Given the description of an element on the screen output the (x, y) to click on. 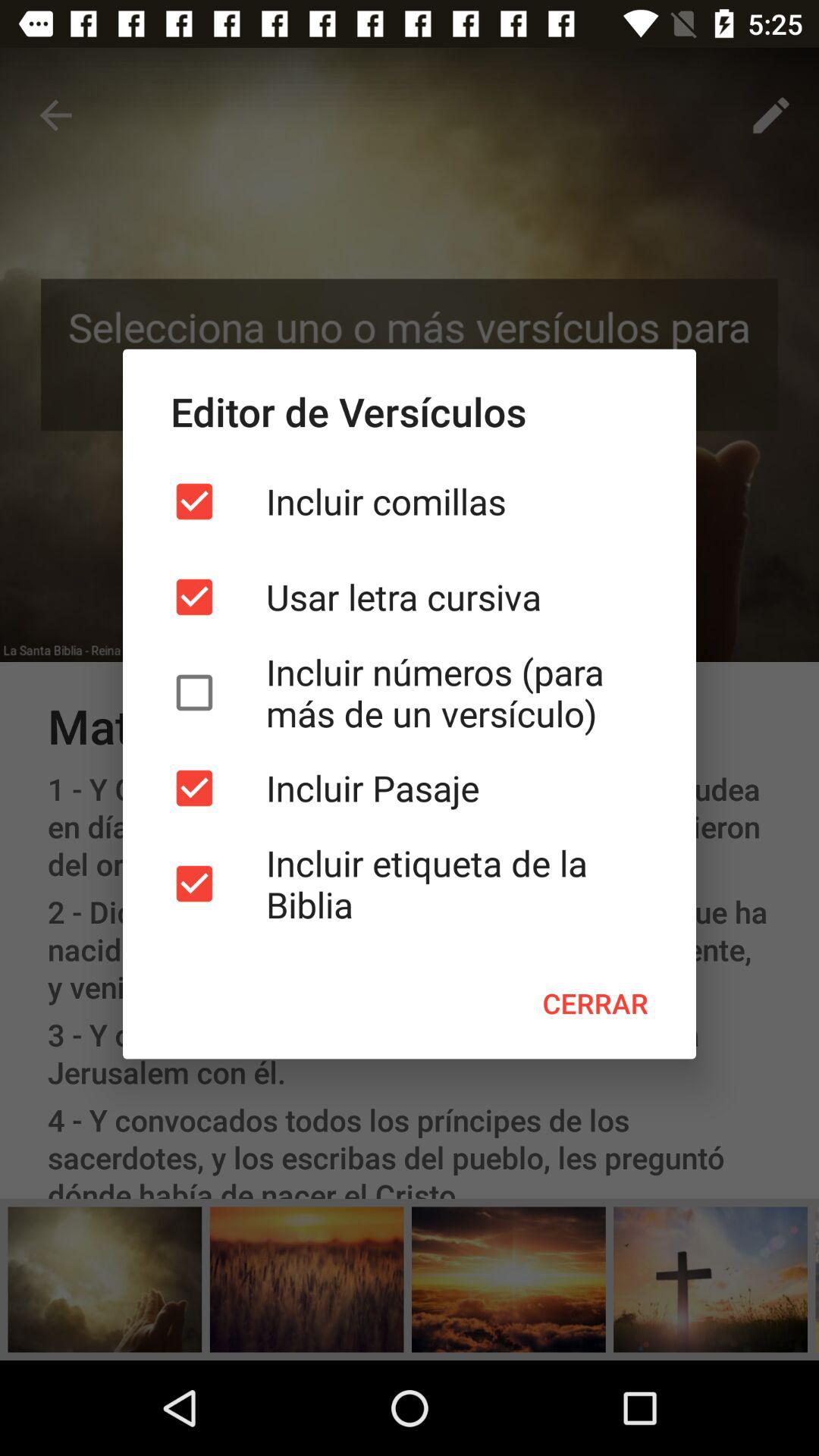
scroll until the incluir etiqueta de (409, 883)
